Given the description of an element on the screen output the (x, y) to click on. 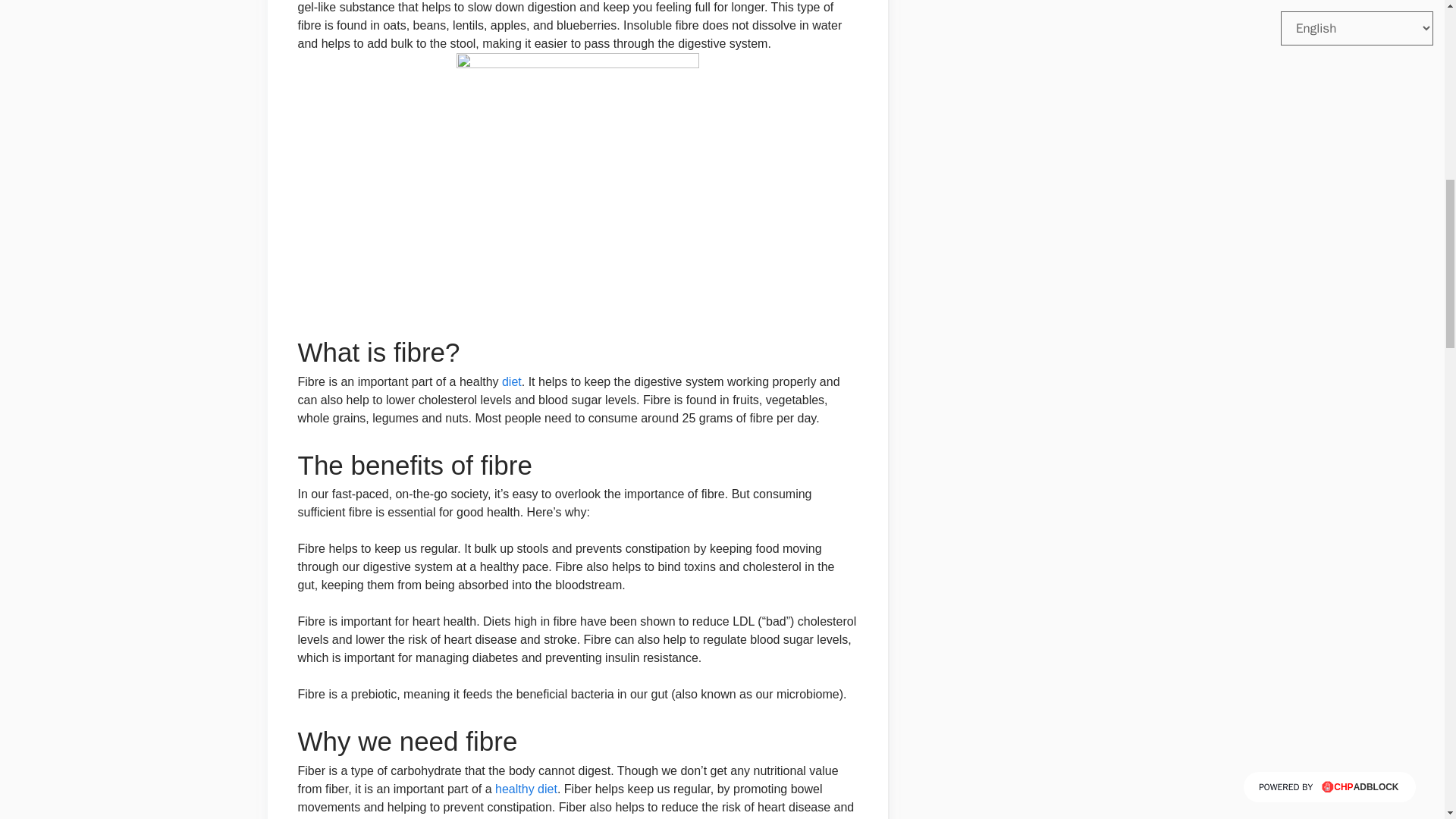
healthy diet (526, 788)
diet (511, 381)
